Given the description of an element on the screen output the (x, y) to click on. 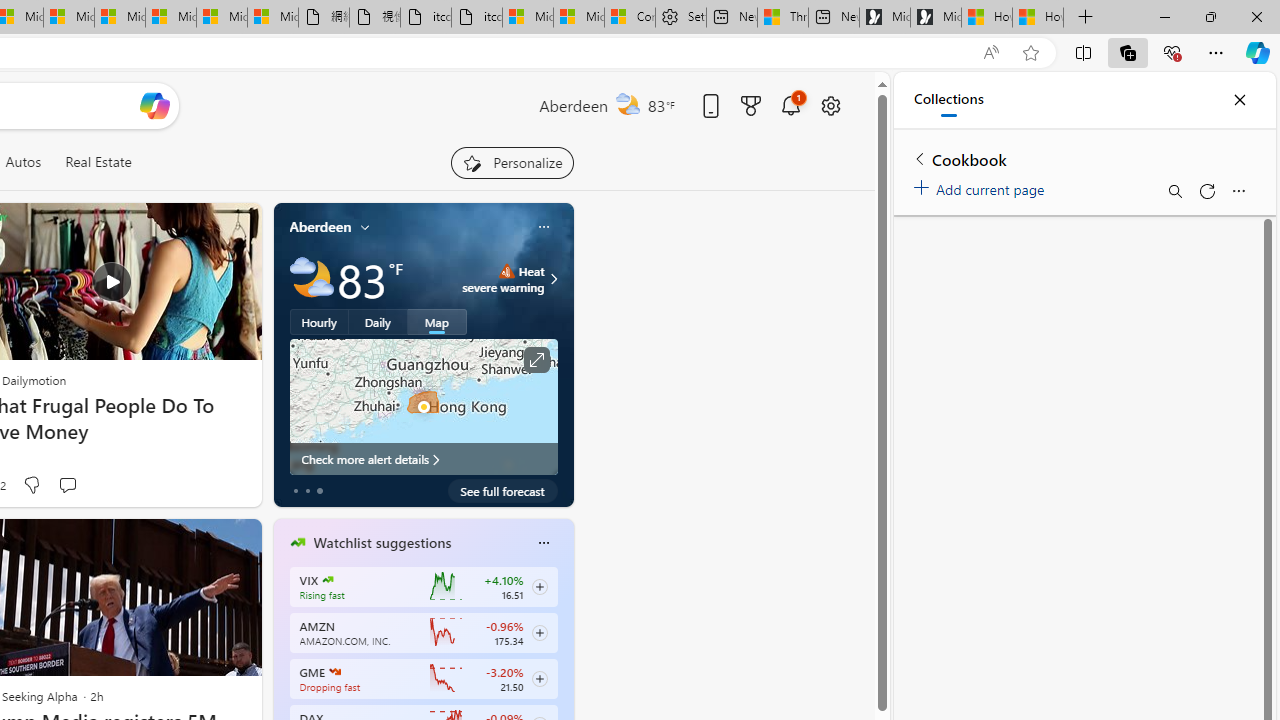
Click to see more information (536, 359)
Partly cloudy (311, 278)
itconcepthk.com/projector_solutions.mp4 (476, 17)
previous (283, 670)
More options menu (1238, 190)
